Given the description of an element on the screen output the (x, y) to click on. 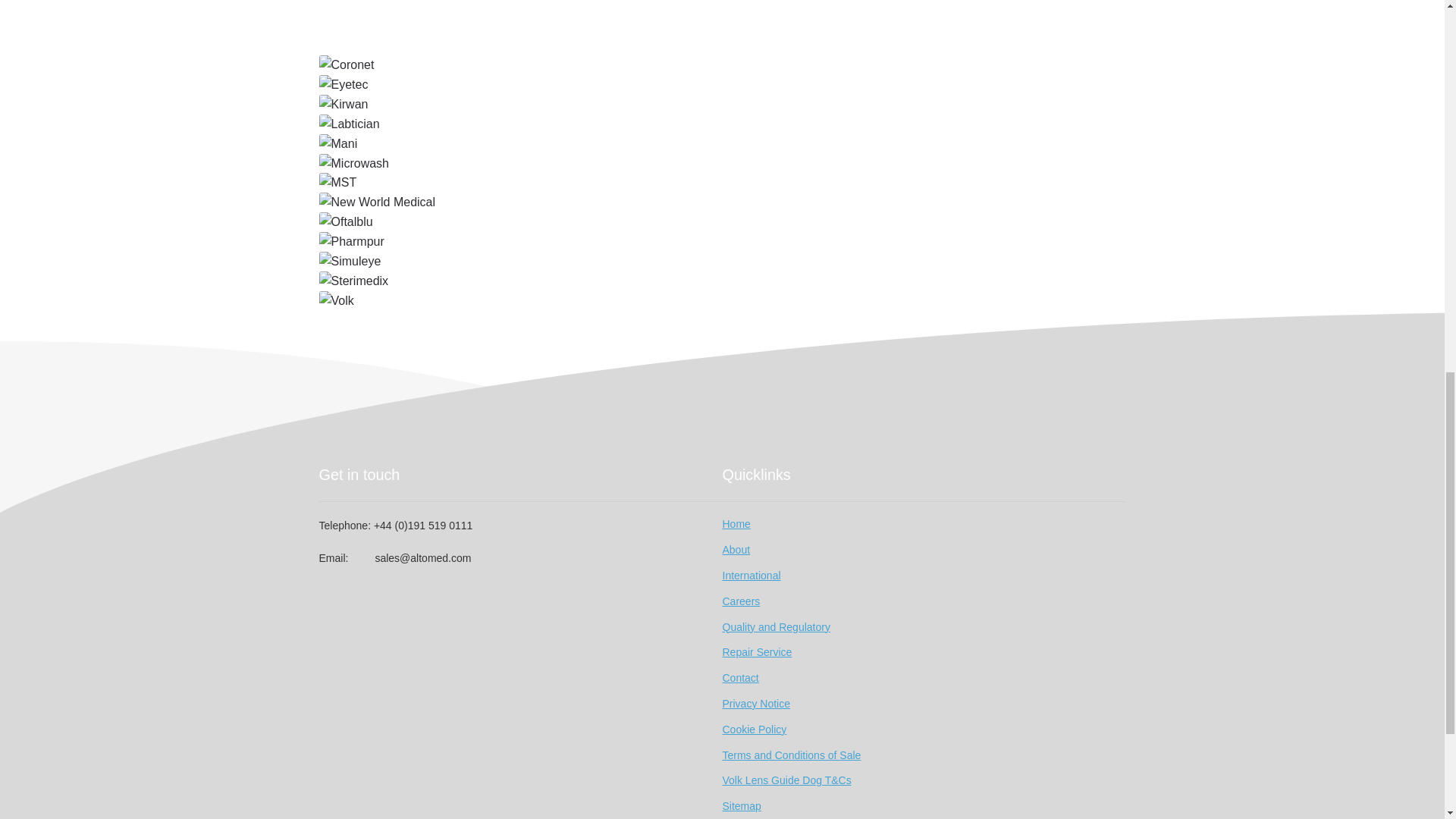
Oftalblu (721, 221)
Kirwan (721, 104)
Simuleye (721, 261)
Sterimedix (721, 281)
Labtician (721, 124)
New World Medical (721, 202)
Pharmpur (721, 241)
Volk (721, 301)
Coronet (721, 65)
Mani (721, 143)
